Given the description of an element on the screen output the (x, y) to click on. 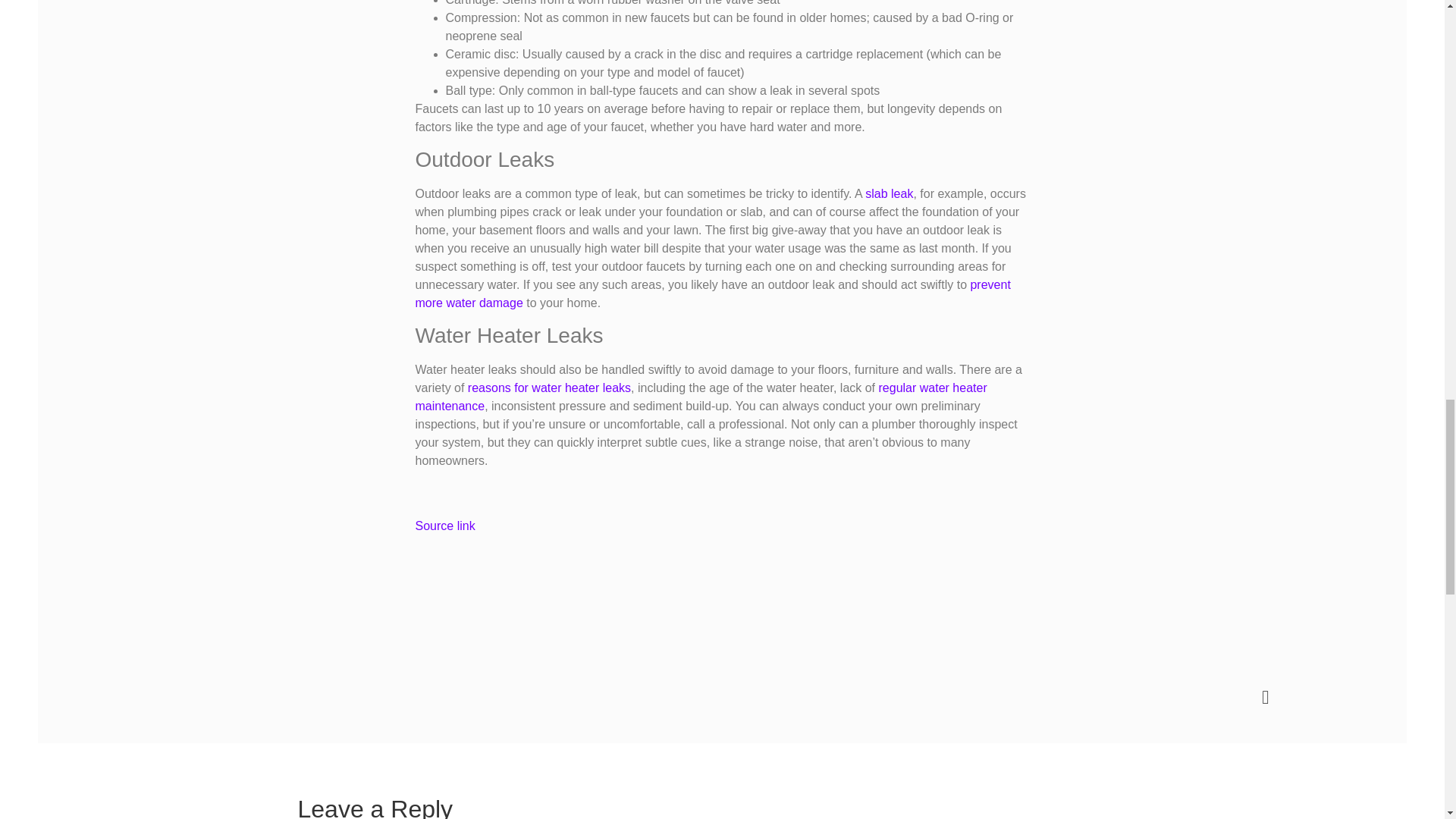
Source link (445, 525)
slab leak (888, 193)
prevent more water damage (712, 293)
reasons for water heater leaks (548, 387)
regular water heater maintenance (700, 396)
